Given the description of an element on the screen output the (x, y) to click on. 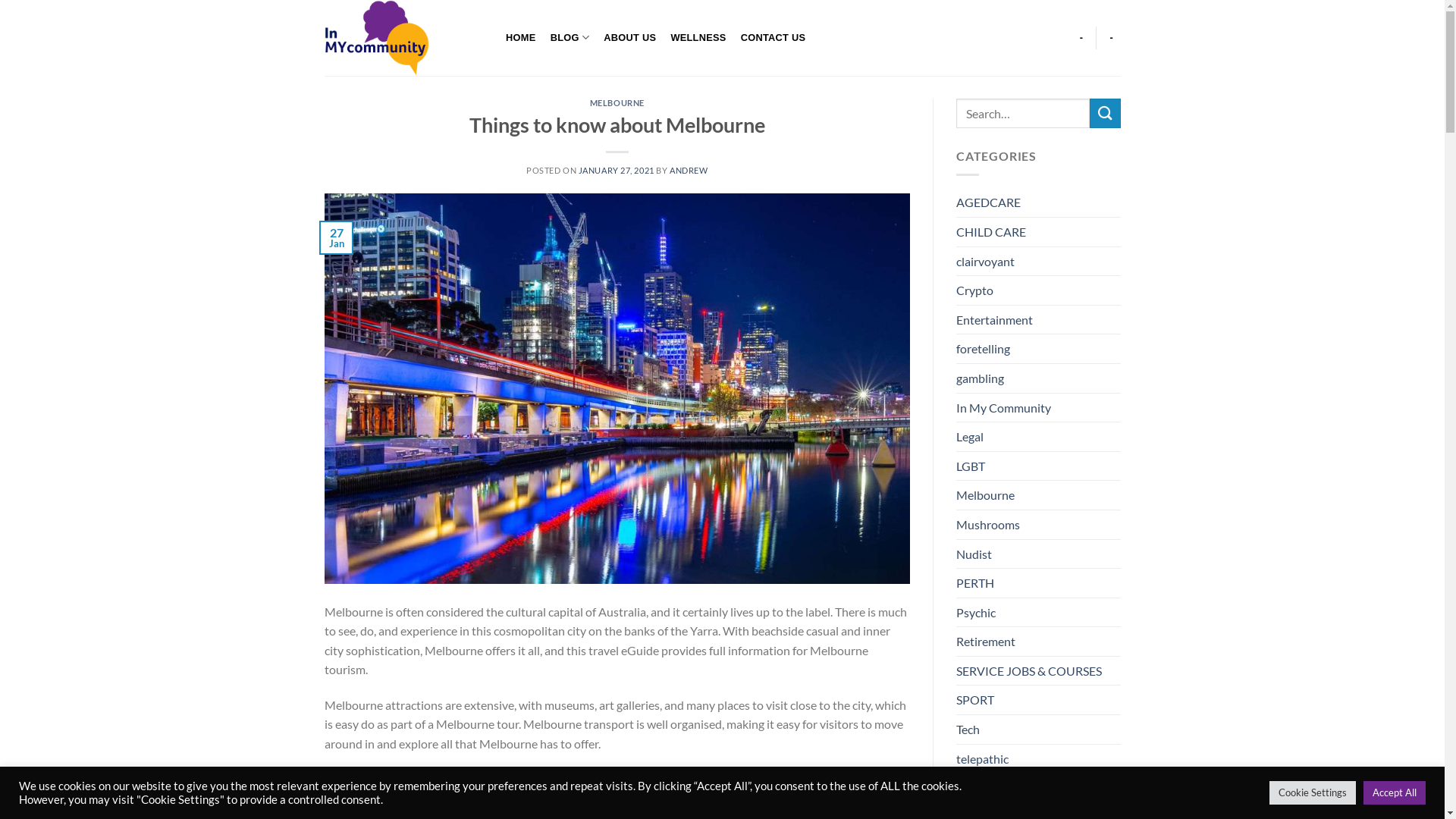
Accept All Element type: text (1394, 792)
Psychic Element type: text (975, 612)
JANUARY 27, 2021 Element type: text (616, 170)
- Element type: text (1081, 37)
Nudist Element type: text (973, 553)
In My Community, Connecting Australia. - Community Directory Element type: hover (400, 37)
LGBT Element type: text (970, 465)
PERTH Element type: text (975, 582)
foretelling Element type: text (983, 348)
Legal Element type: text (969, 436)
SERVICE JOBS & COURSES Element type: text (1028, 670)
ABOUT US Element type: text (629, 37)
CHILD CARE Element type: text (991, 231)
In My Community Element type: text (1003, 407)
SPORT Element type: text (975, 699)
telepathic Element type: text (982, 758)
BLOG Element type: text (569, 37)
gambling Element type: text (980, 378)
Melbourne Element type: text (985, 494)
Entertainment Element type: text (994, 319)
clairvoyant Element type: text (985, 261)
ANDREW Element type: text (688, 170)
Crypto Element type: text (974, 290)
Cookie Settings Element type: text (1312, 792)
HOME Element type: text (520, 37)
MELBOURNE Element type: text (616, 102)
AGEDCARE Element type: text (988, 202)
CONTACT US Element type: text (772, 37)
Mushrooms Element type: text (987, 524)
Tech Element type: text (967, 729)
Travel Element type: text (972, 787)
- Element type: text (1111, 37)
Retirement Element type: text (985, 641)
WELLNESS Element type: text (698, 37)
